Given the description of an element on the screen output the (x, y) to click on. 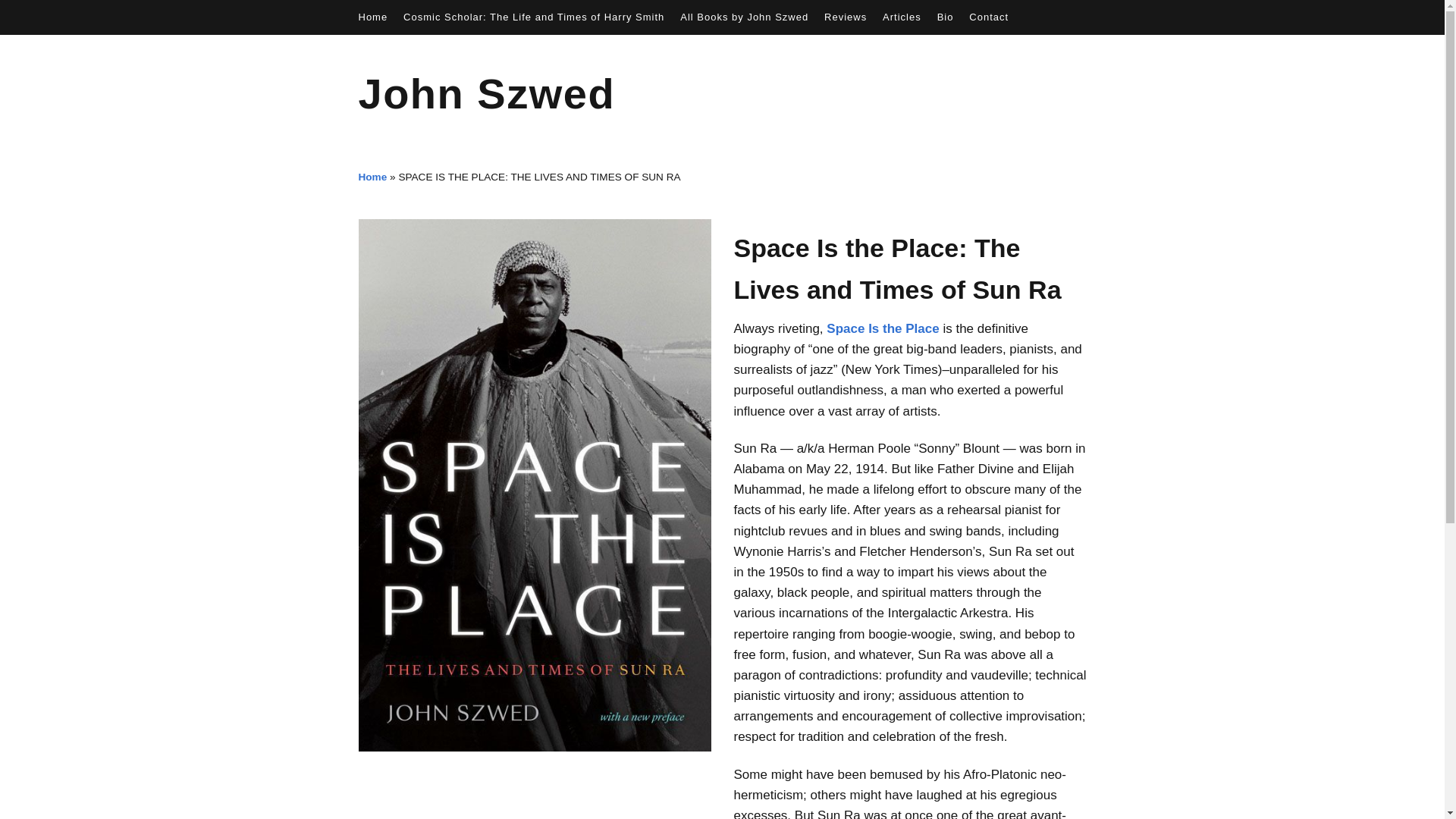
Space Is the Place (883, 328)
John Szwed (486, 93)
Contact (989, 16)
All Books by John Szwed (743, 16)
Home (372, 16)
Home (372, 176)
Bio (945, 16)
Articles (901, 16)
Cosmic Scholar: The Life and Times of Harry Smith (533, 16)
Reviews (845, 16)
